Given the description of an element on the screen output the (x, y) to click on. 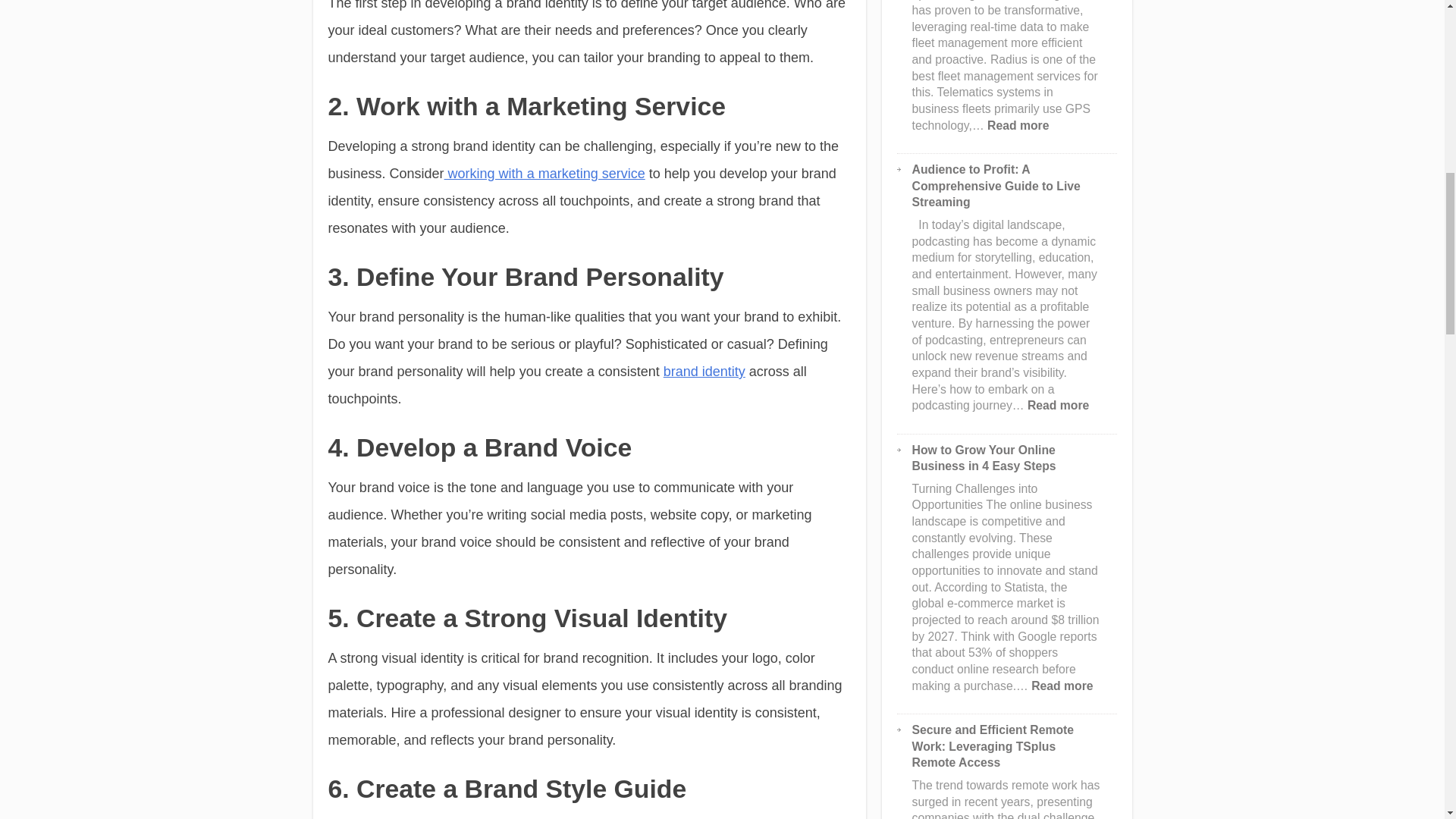
brand identity (704, 371)
working with a marketing service (1017, 124)
Audience to Profit: A Comprehensive Guide to Live Streaming (544, 173)
